Given the description of an element on the screen output the (x, y) to click on. 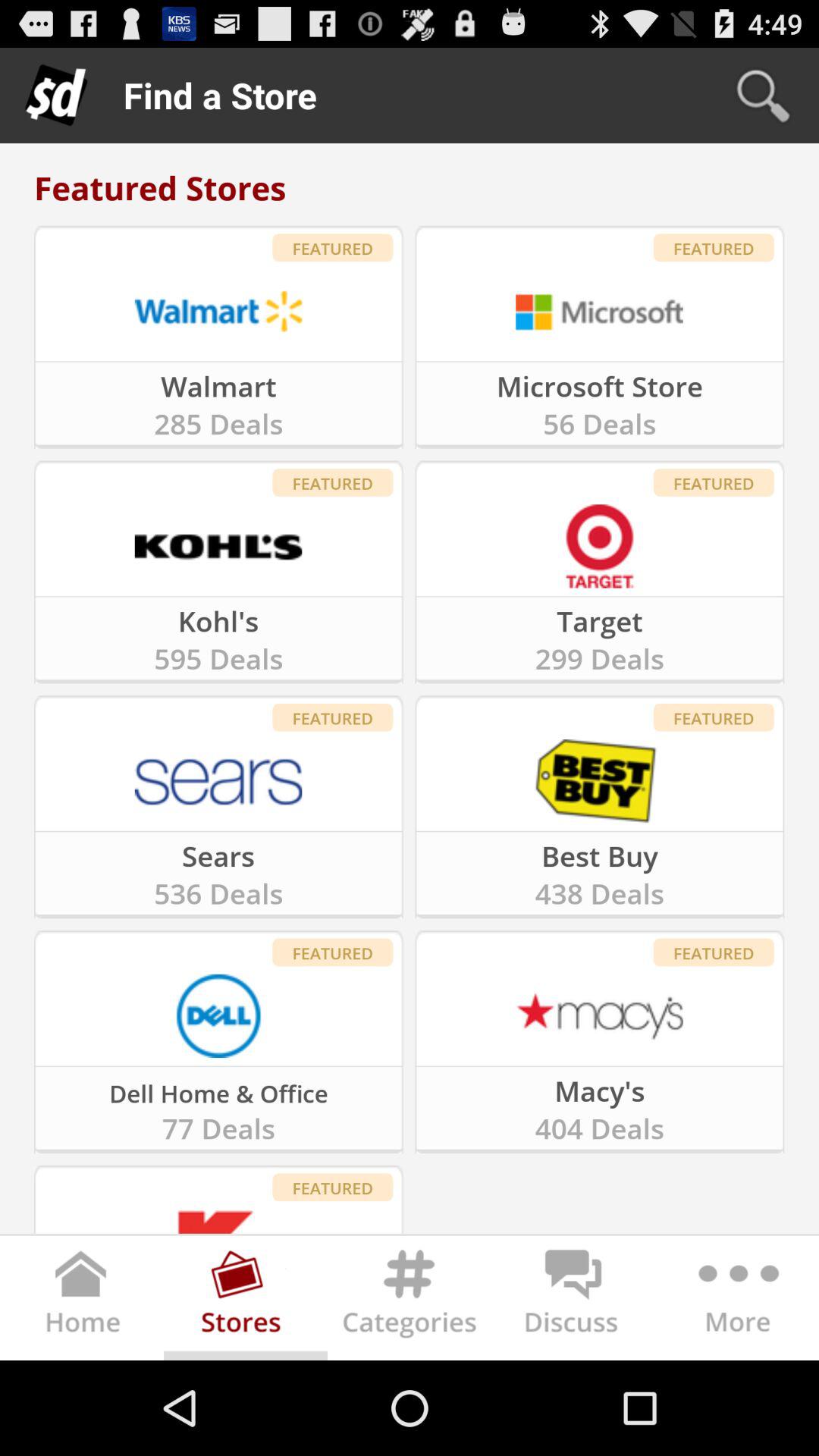
opens the stores tab (245, 1301)
